Given the description of an element on the screen output the (x, y) to click on. 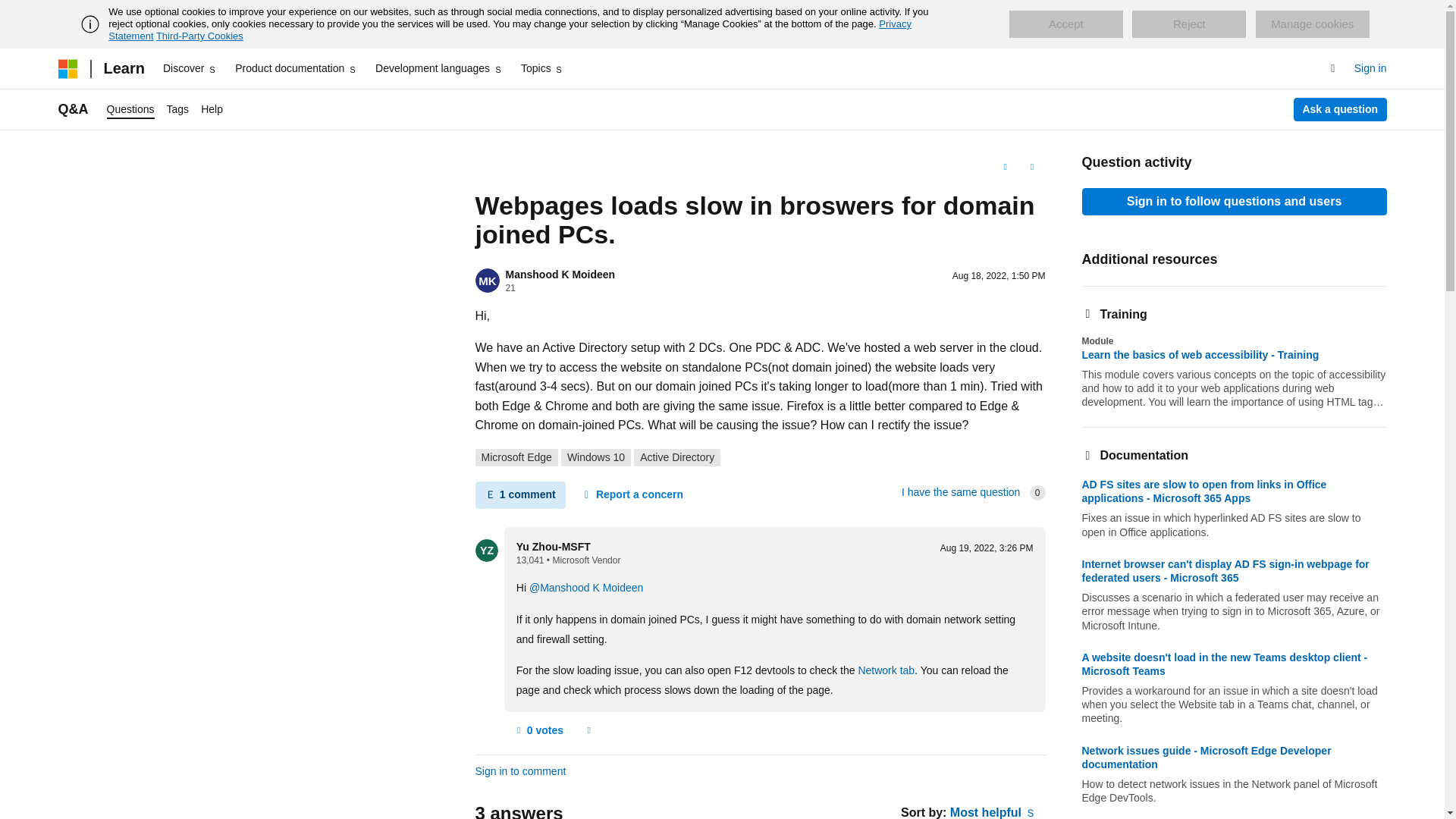
This comment is helpful (538, 730)
You have the same or similar question (960, 491)
Questions (130, 109)
Product documentation (295, 68)
Privacy Statement (509, 29)
Reject (1189, 23)
Third-Party Cookies (199, 35)
Learn (123, 68)
Manage cookies (1312, 23)
Share this question (1031, 166)
